Given the description of an element on the screen output the (x, y) to click on. 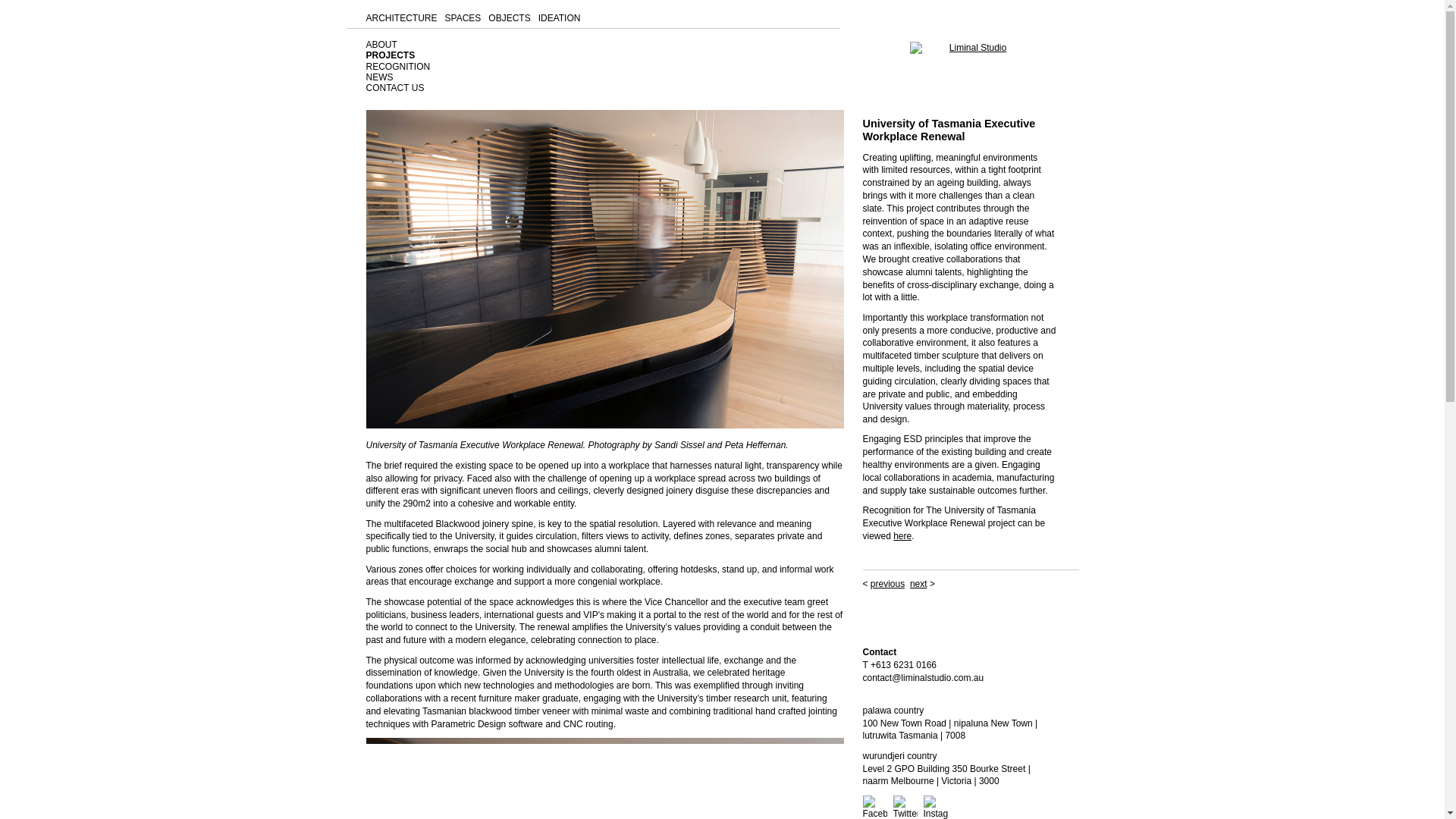
here (902, 535)
PROJECTS (389, 54)
Contact (879, 652)
ABOUT (380, 44)
next (918, 583)
NEWS (379, 77)
CONTACT US (394, 87)
RECOGNITION (397, 66)
previous (887, 583)
